Given the description of an element on the screen output the (x, y) to click on. 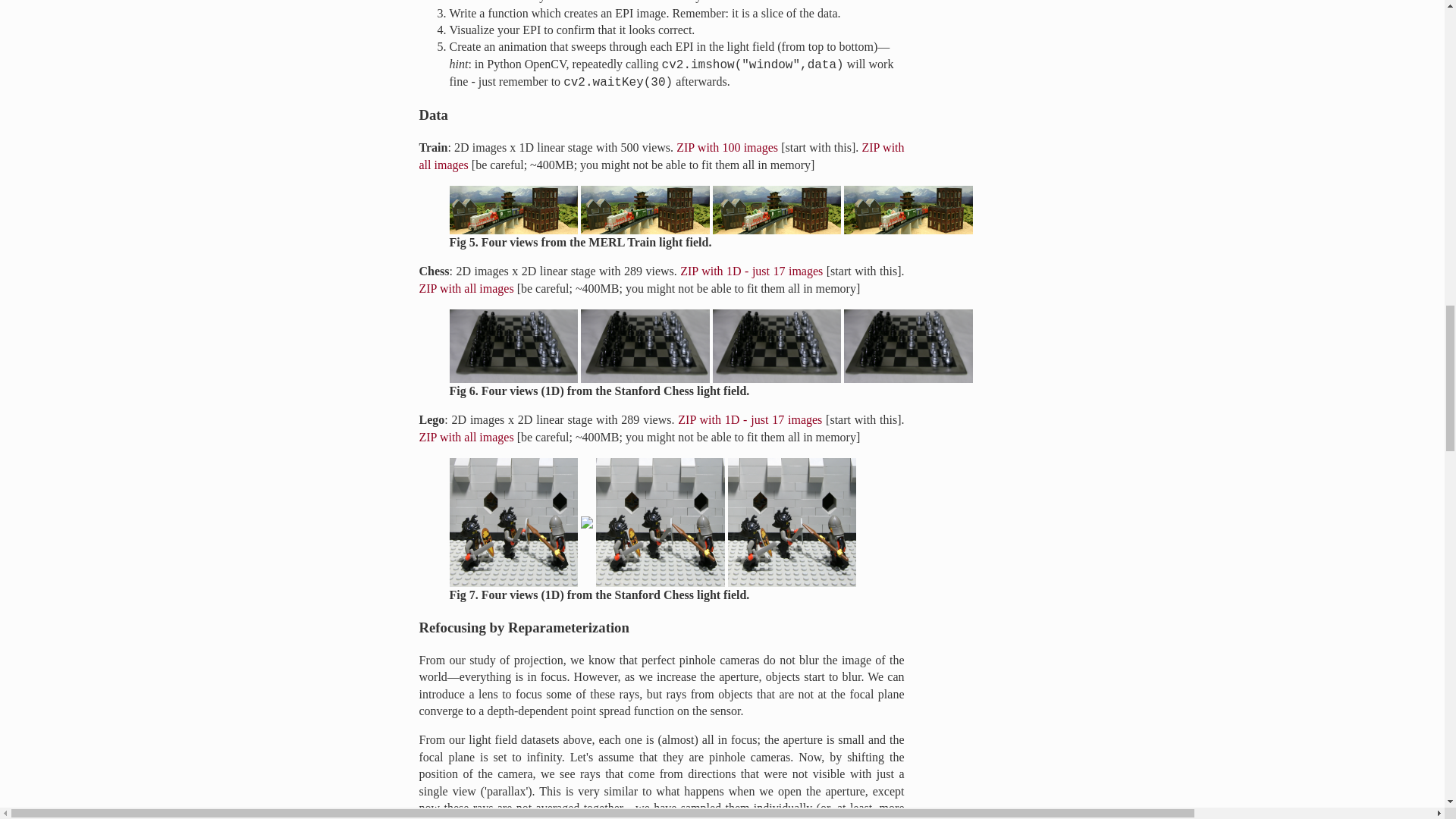
ZIP with 100 images (727, 146)
ZIP with 1D - just 17 images (750, 419)
ZIP with all images (661, 155)
ZIP with all images (466, 436)
ZIP with all images (466, 287)
ZIP with 1D - just 17 images (750, 270)
